Given the description of an element on the screen output the (x, y) to click on. 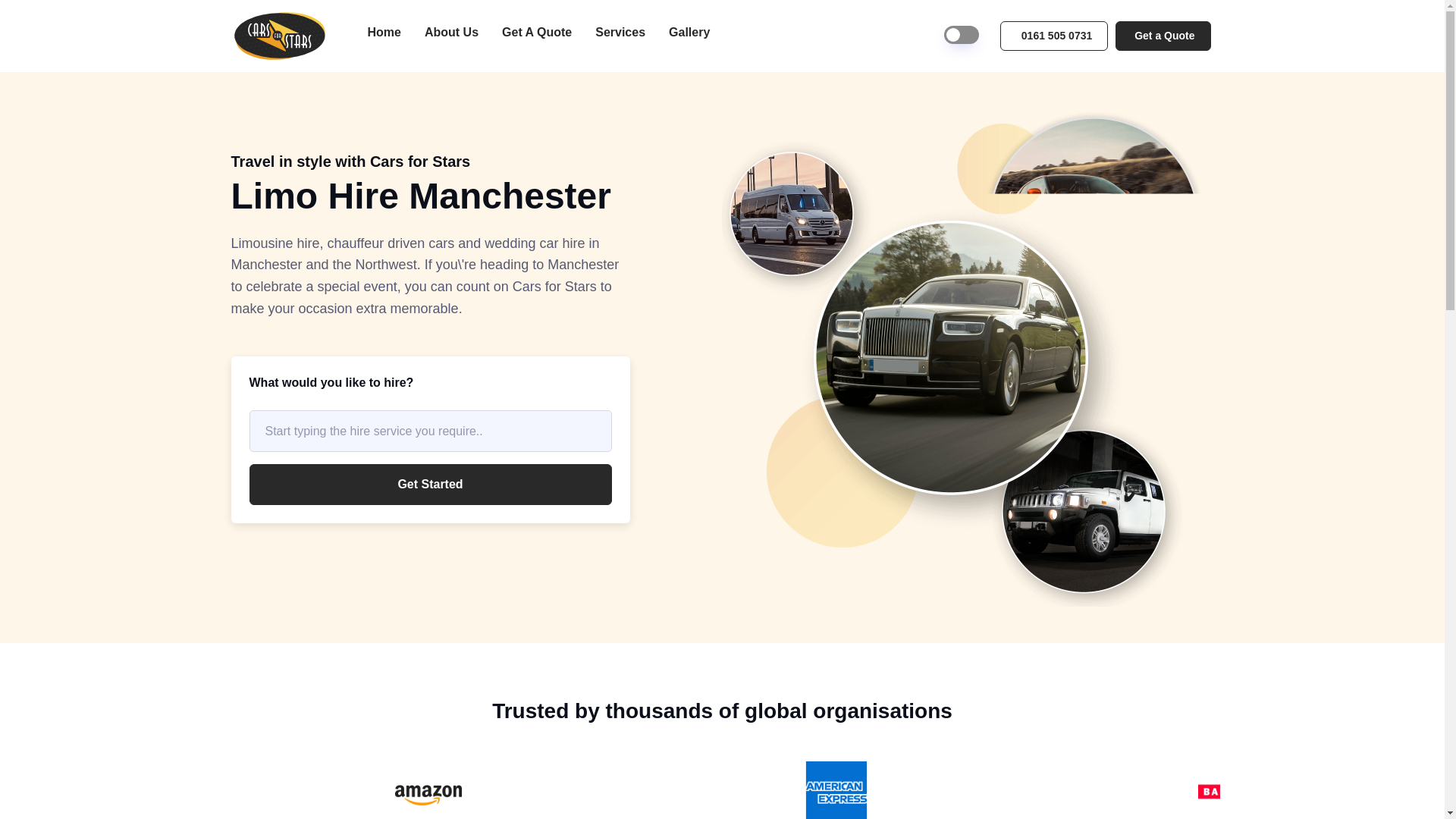
Home (383, 31)
on (960, 34)
Get Started (429, 484)
CFS Manchester (278, 35)
Gallery (689, 31)
CFS Manchester (287, 35)
Gallery (689, 31)
0161 505 0731 (1054, 36)
Services (620, 31)
Amazon (428, 790)
About Us (451, 31)
About Us (451, 31)
Get a Quote (1162, 36)
 Get a Quote (1162, 36)
